Given the description of an element on the screen output the (x, y) to click on. 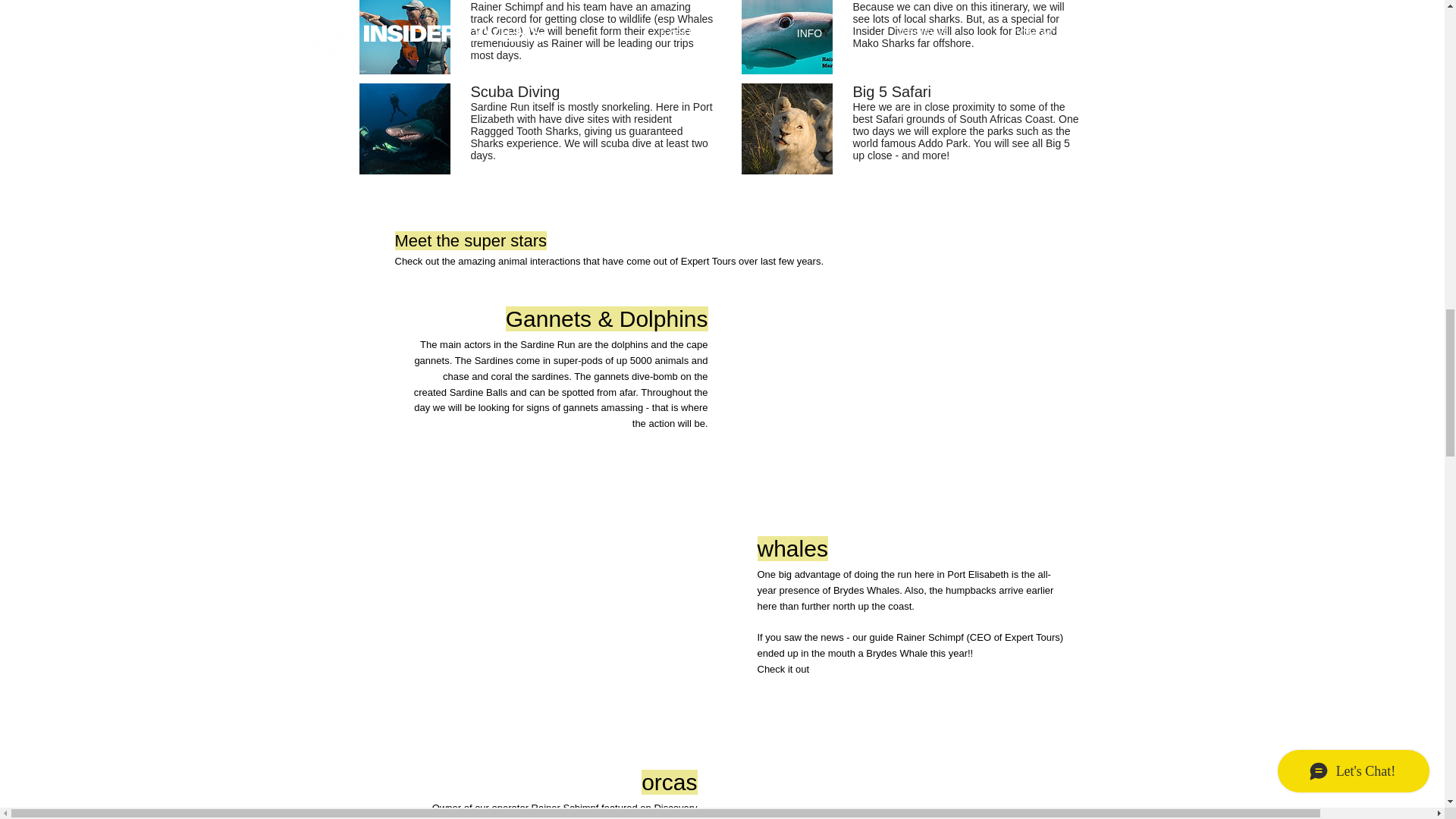
SOUTH AFRICA 2016-07 Simon Lorenz-5584.j (404, 128)
External YouTube (874, 791)
External YouTube (579, 630)
External YouTube (886, 400)
